Given the description of an element on the screen output the (x, y) to click on. 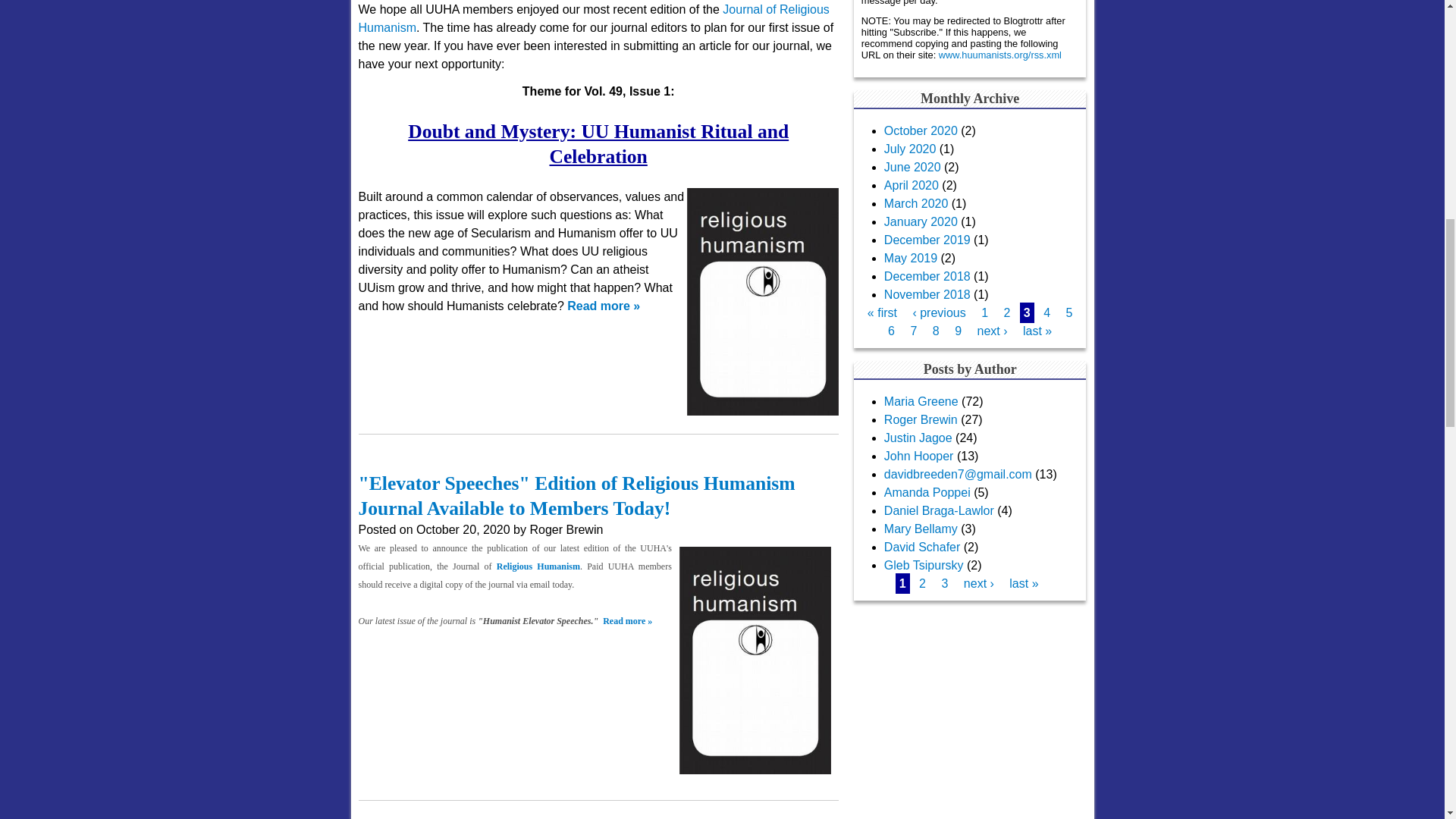
Journal of Religious Humanism (593, 18)
Religious Humanism (537, 566)
